Given the description of an element on the screen output the (x, y) to click on. 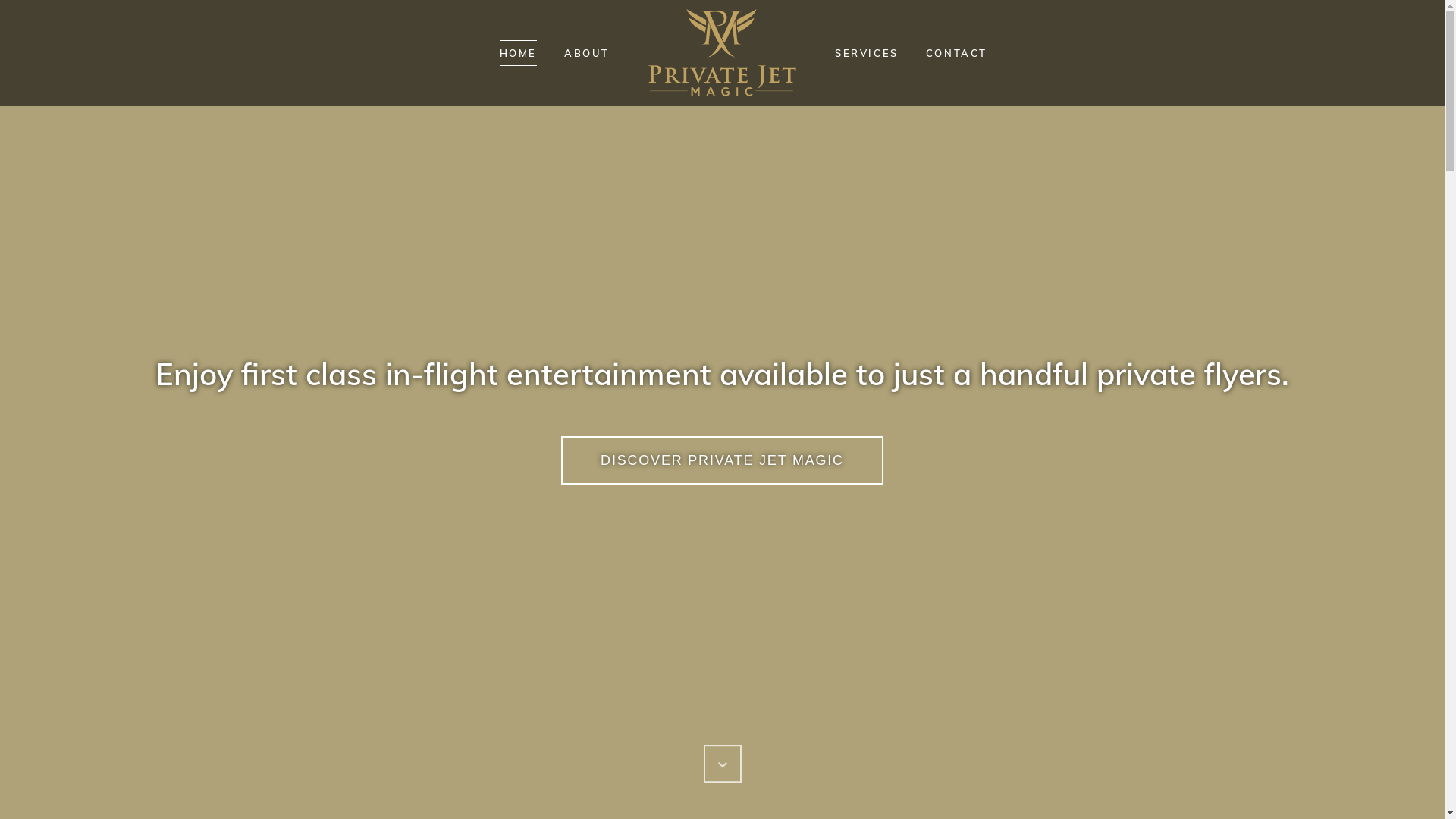
DISCOVER PRIVATE JET MAGIC Element type: text (722, 460)
keyboard_arrow_down Element type: text (722, 763)
SERVICES Element type: text (866, 52)
HOME Element type: text (518, 52)
ABOUT Element type: text (586, 52)
CONTACT Element type: text (956, 52)
